Given the description of an element on the screen output the (x, y) to click on. 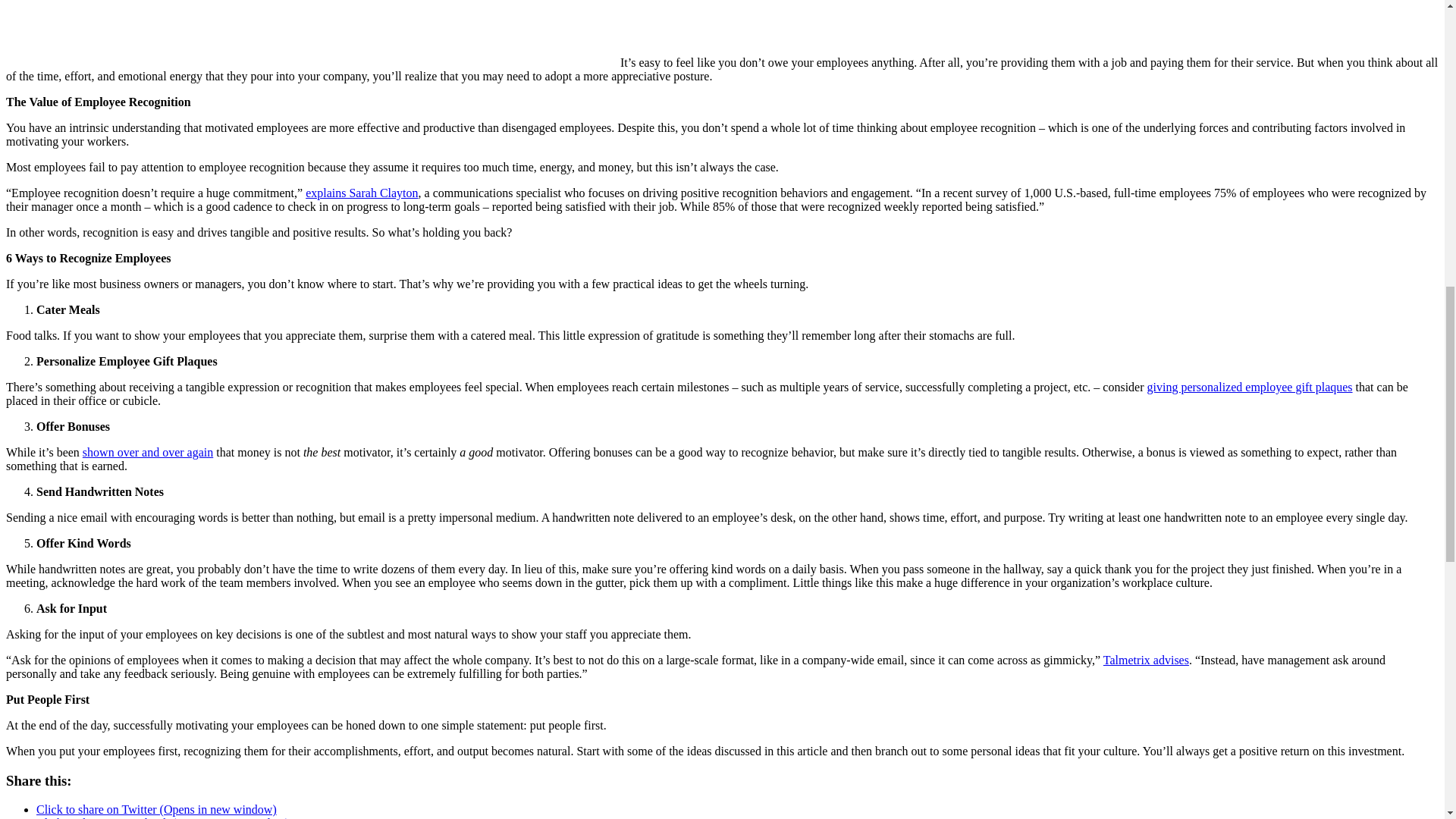
explains Sarah Clayton (361, 192)
giving personalized employee gift plaques (1249, 386)
Talmetrix advises (1146, 659)
Click to share on Twitter (156, 809)
shown over and over again (147, 451)
